Given the description of an element on the screen output the (x, y) to click on. 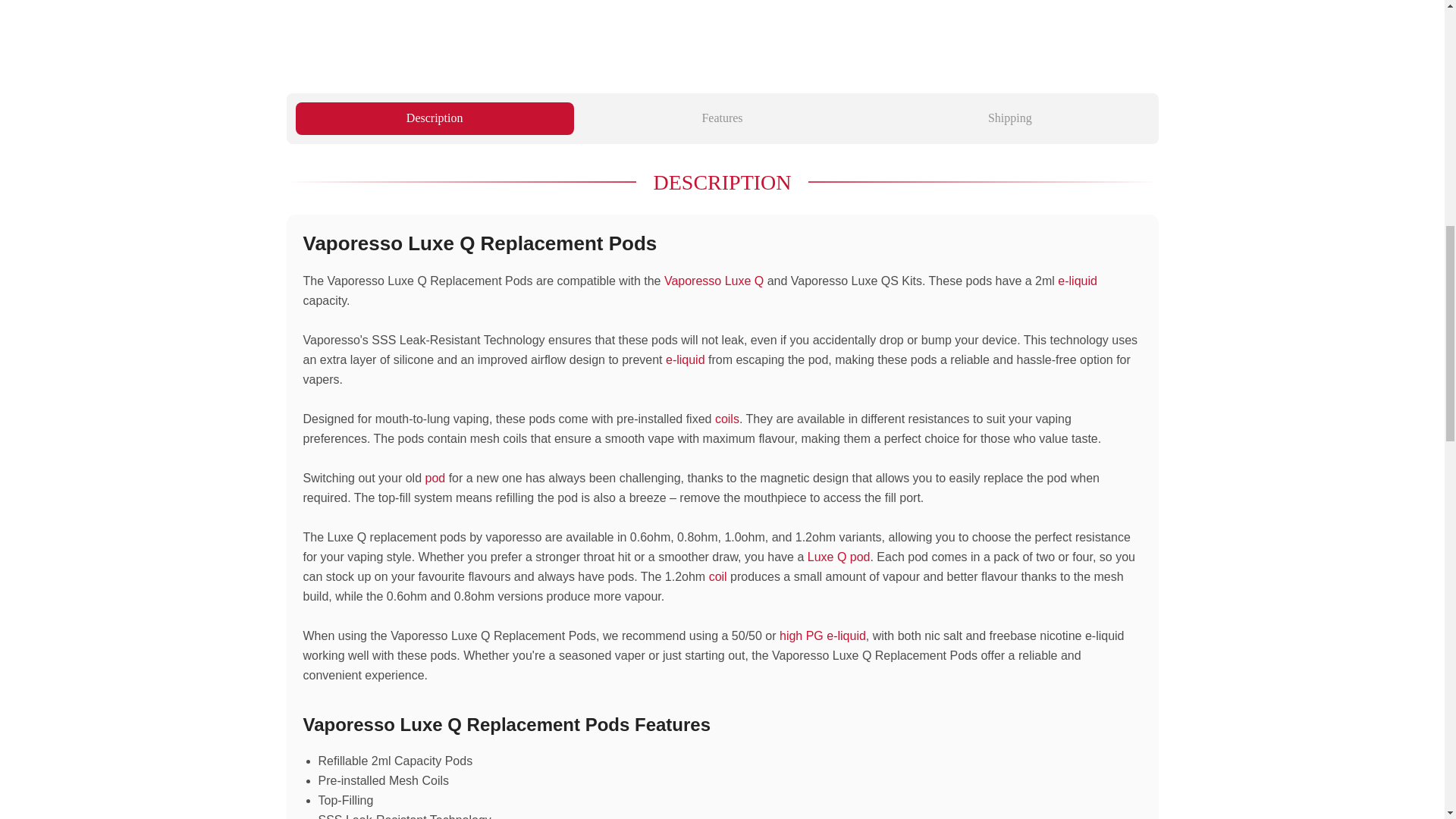
Vaporesso Vape Coils (726, 418)
E-Liquid (1077, 280)
High PG E-Liquid (822, 635)
Vaporesso Luxe Q Pod Kit (839, 556)
E-Liquid (684, 359)
Vape Coil (717, 576)
Vaporesso Luxe Q Pod Kit (712, 280)
Pod Kits (435, 477)
